Given the description of an element on the screen output the (x, y) to click on. 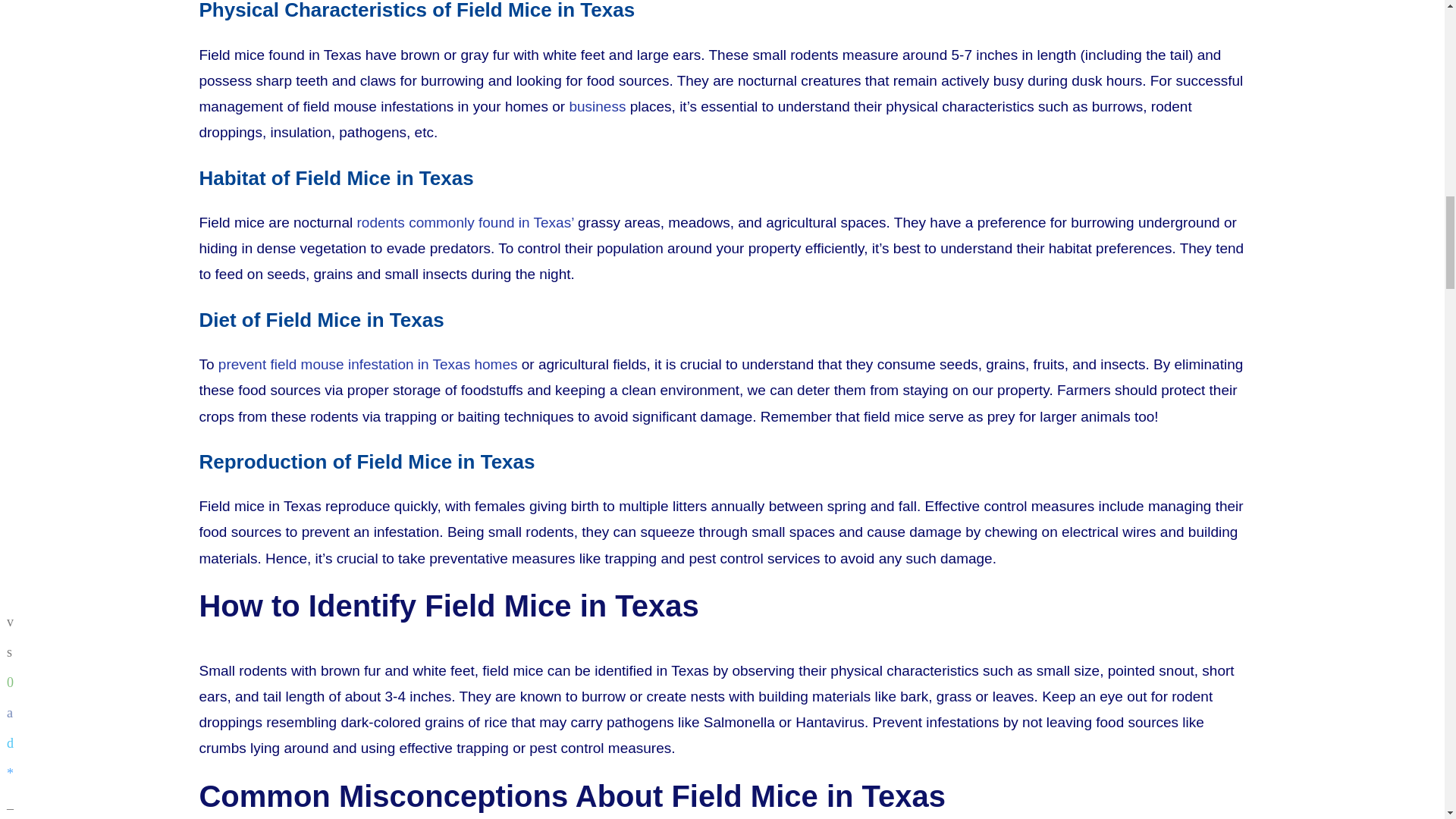
prevent field mouse infestation in Texas homes (368, 364)
business (597, 106)
business (597, 106)
